Given the description of an element on the screen output the (x, y) to click on. 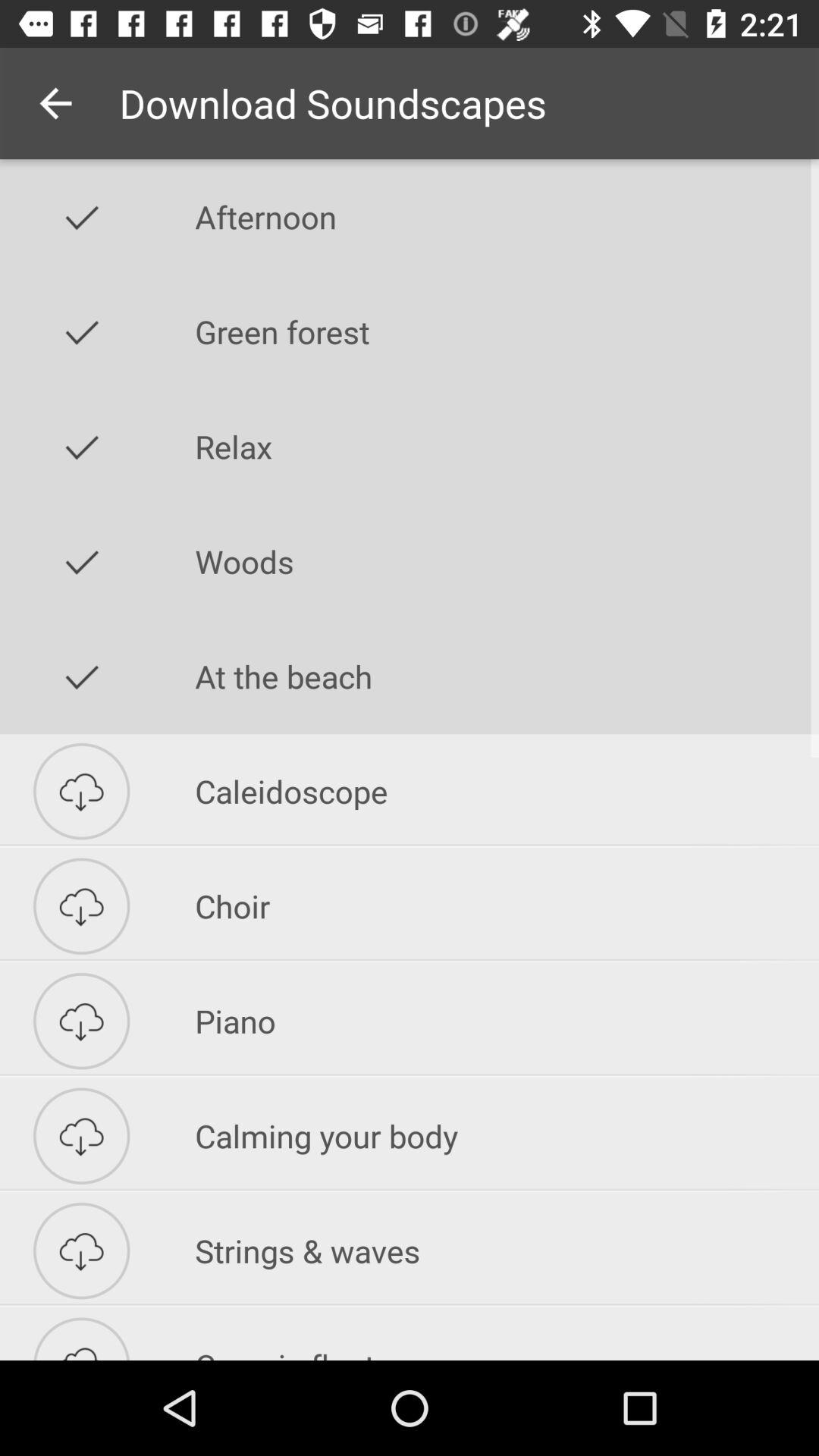
press the icon above the strings & waves icon (507, 1135)
